Given the description of an element on the screen output the (x, y) to click on. 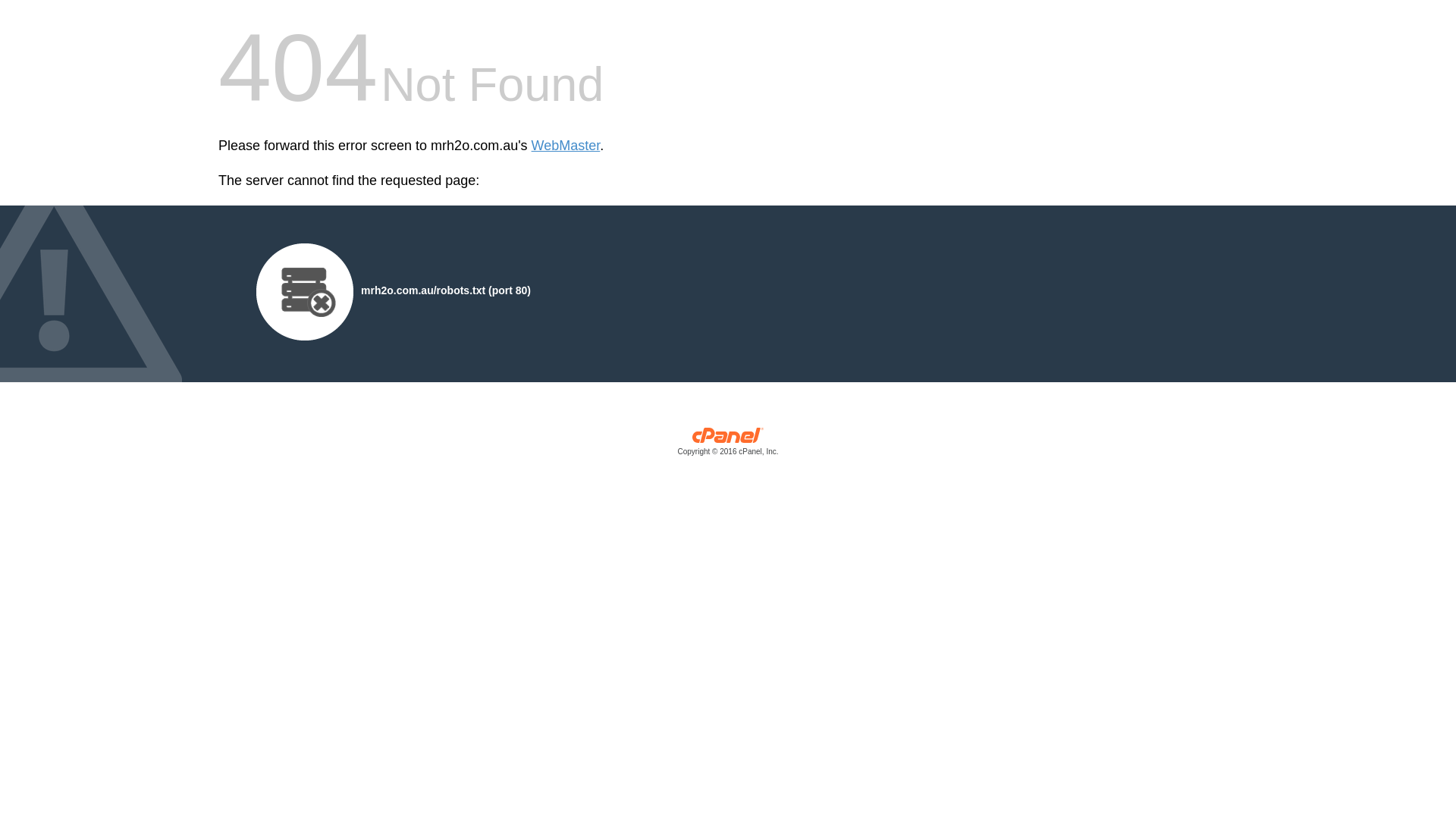
WebMaster Element type: text (565, 145)
